Given the description of an element on the screen output the (x, y) to click on. 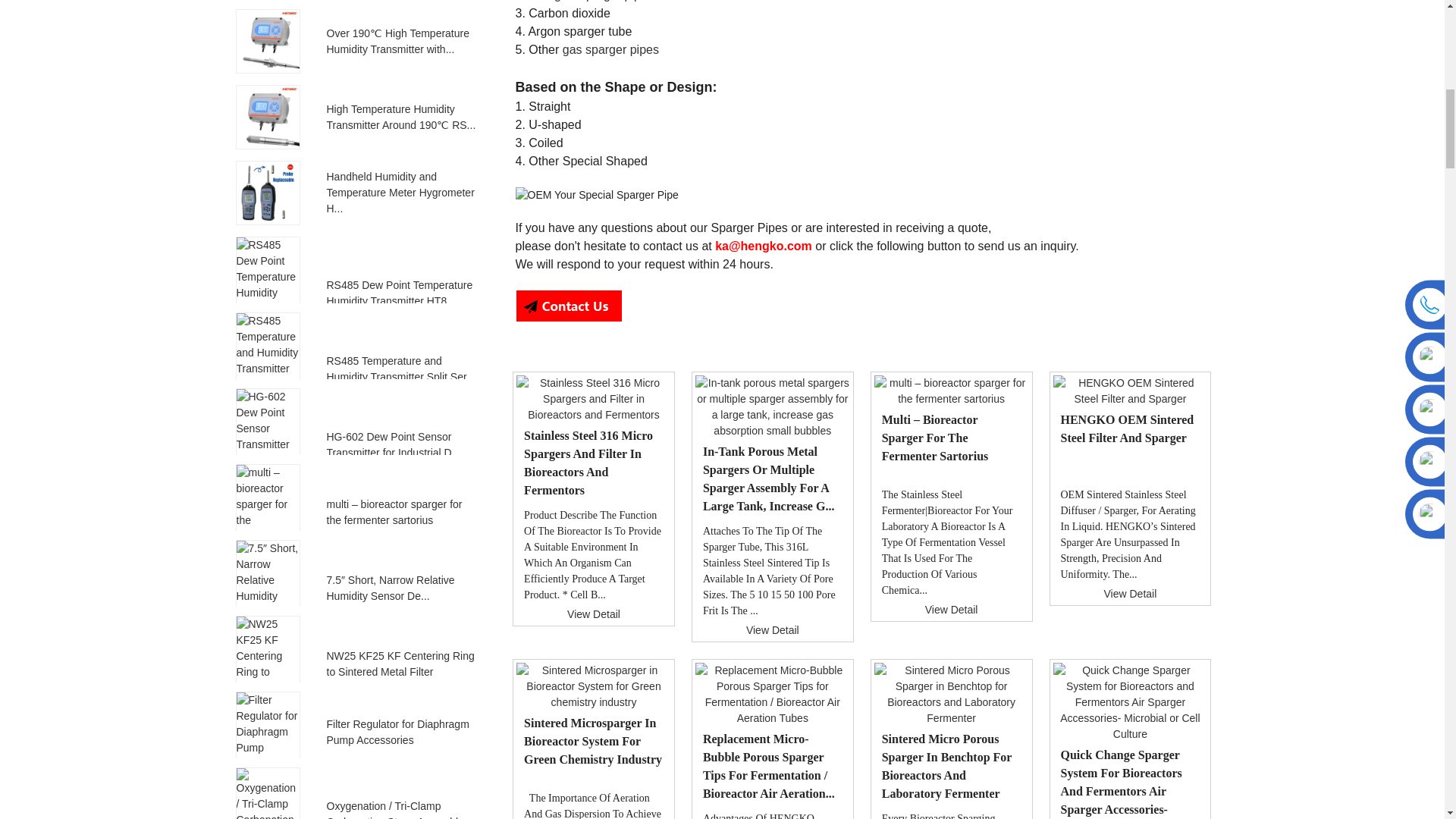
HENGKO OEM Sintered Steel Filter and Sparger (1127, 533)
HENGKO OEM Sintered Steel Filter and Sparger (1126, 428)
HENGKO OEM Sintered Steel Filter and Sparger (1129, 391)
